Given the description of an element on the screen output the (x, y) to click on. 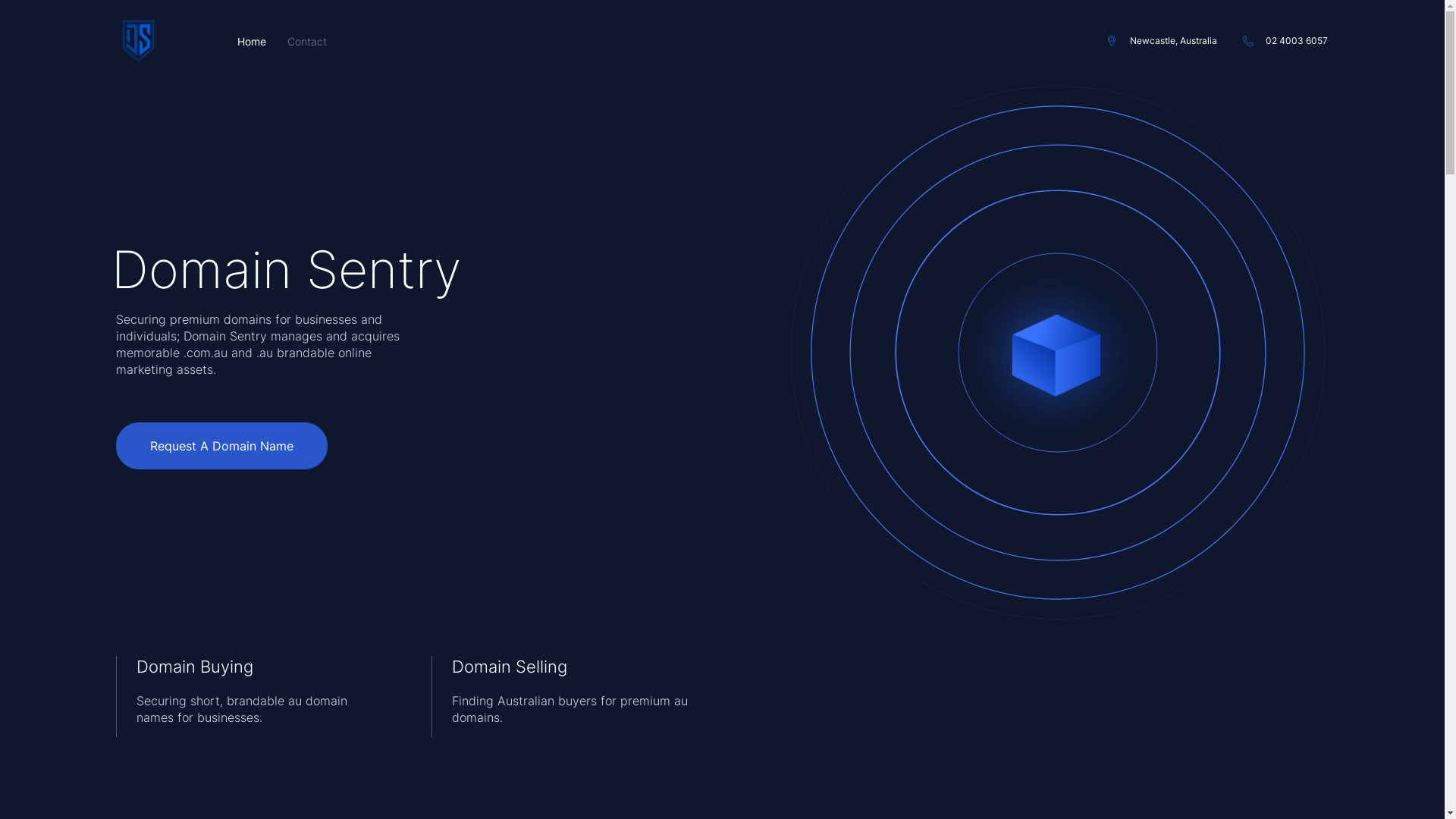
02 4003 6057 Element type: text (1285, 40)
Home Element type: text (250, 40)
Contact Element type: text (306, 40)
Request A Domain Name Element type: text (220, 445)
